Given the description of an element on the screen output the (x, y) to click on. 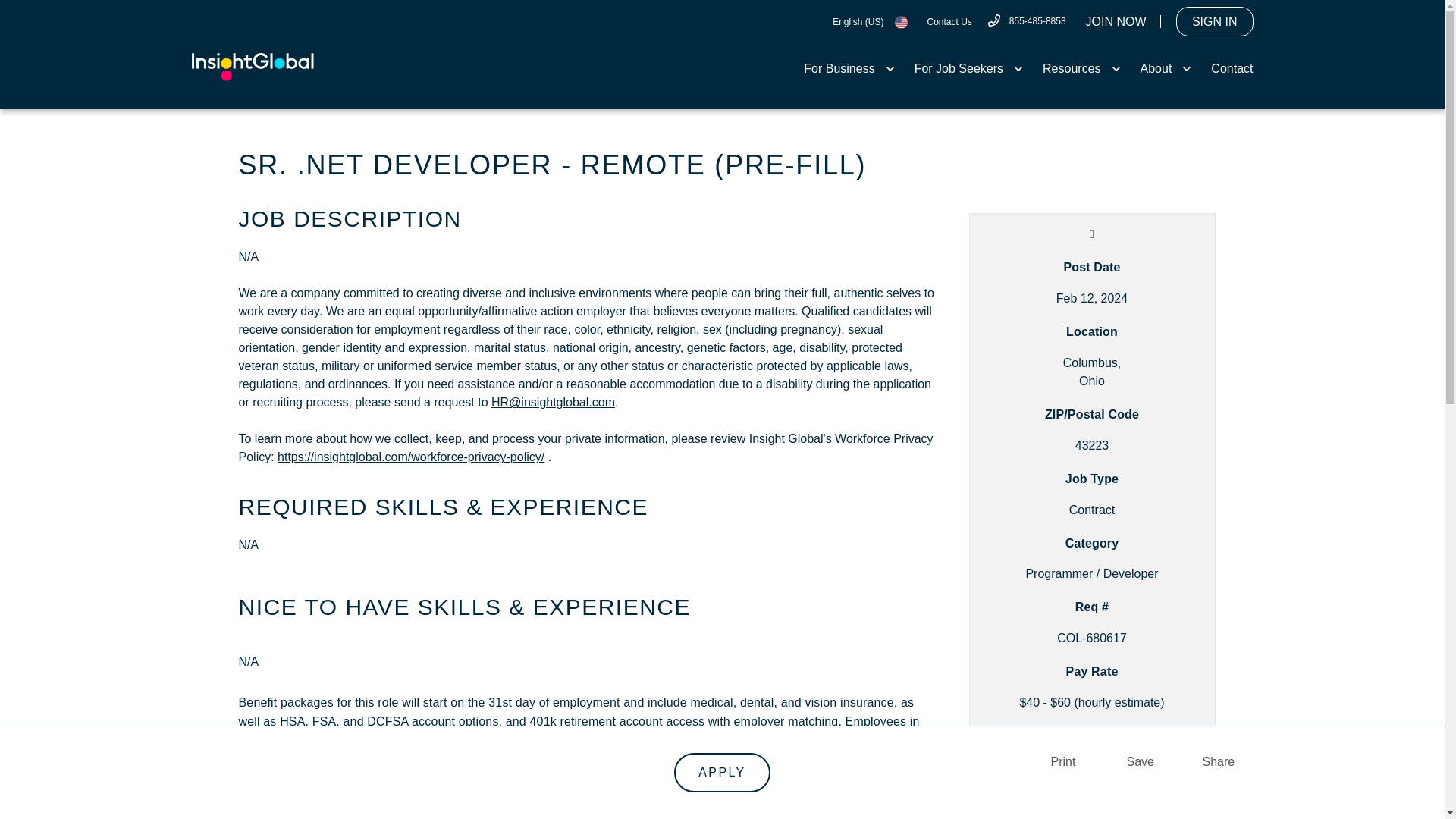
Log in to your account (1214, 21)
855-485-8853 (1026, 20)
JOIN NOW (1116, 21)
For Business (849, 68)
Contact Us (948, 21)
SIGN IN (1214, 21)
Sign up as a new user (1116, 21)
